Given the description of an element on the screen output the (x, y) to click on. 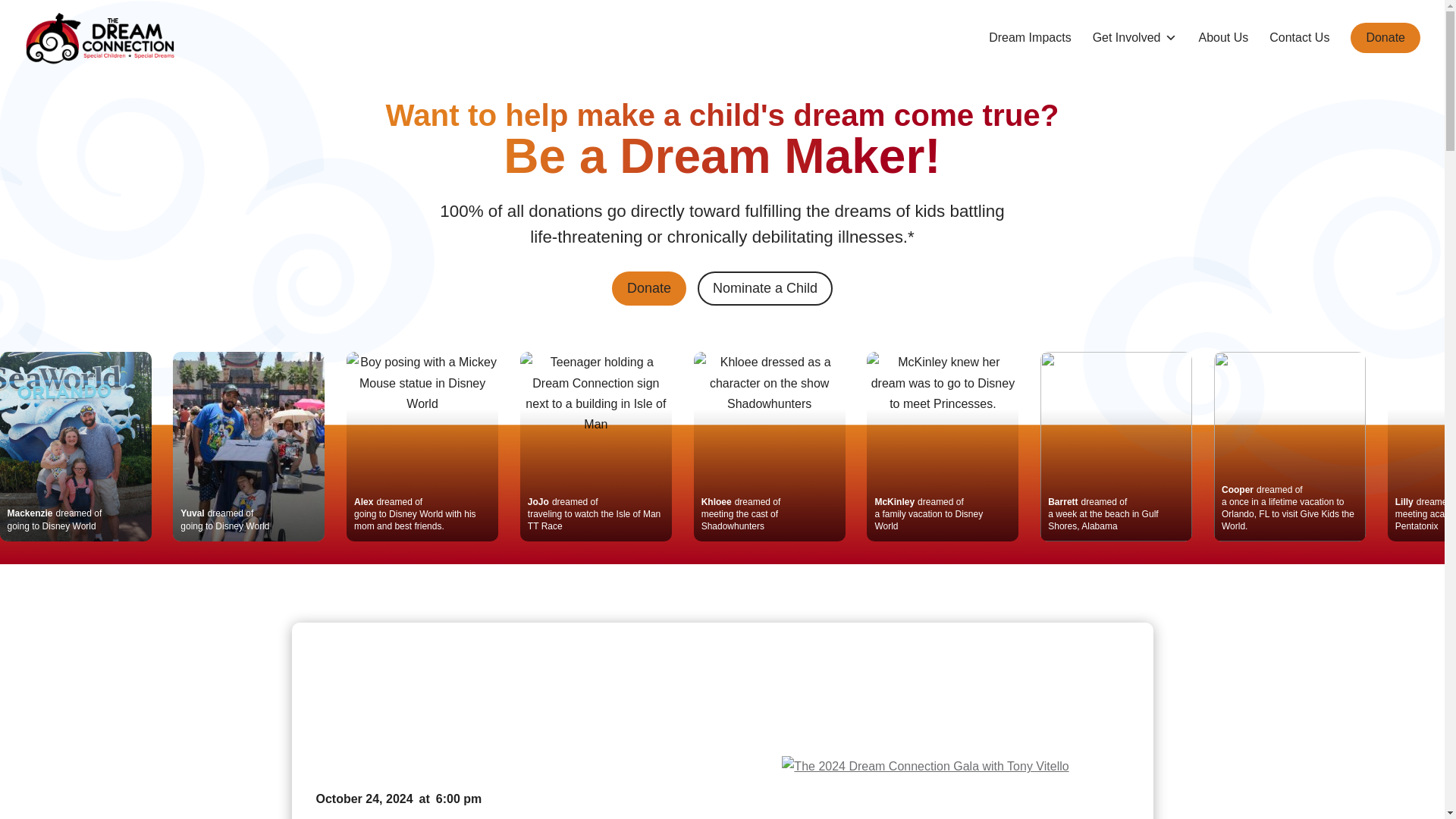
Contact Us (1299, 37)
Dream Impacts (1029, 37)
Get Involved (1135, 37)
Nominate a Child (764, 288)
Donate (648, 288)
Donate (1385, 37)
About Us (1222, 37)
